Given the description of an element on the screen output the (x, y) to click on. 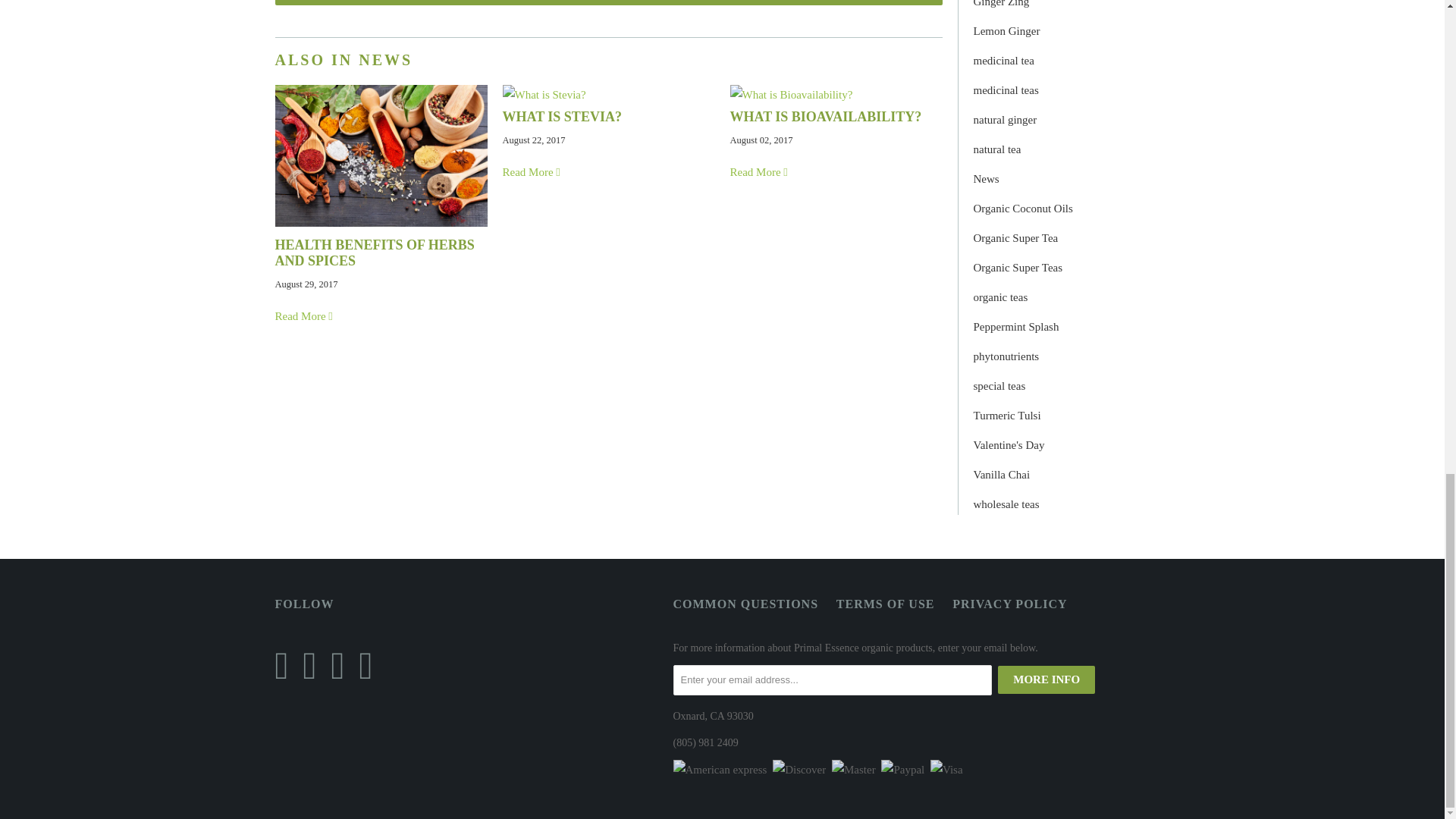
more info (1045, 679)
What is Stevia? (561, 116)
Health Benefits of Herbs and Spices (380, 223)
What is Stevia? (543, 94)
What is Stevia? (532, 172)
Health Benefits of Herbs and Spices (374, 253)
Health Benefits of Herbs and Spices (304, 316)
